Given the description of an element on the screen output the (x, y) to click on. 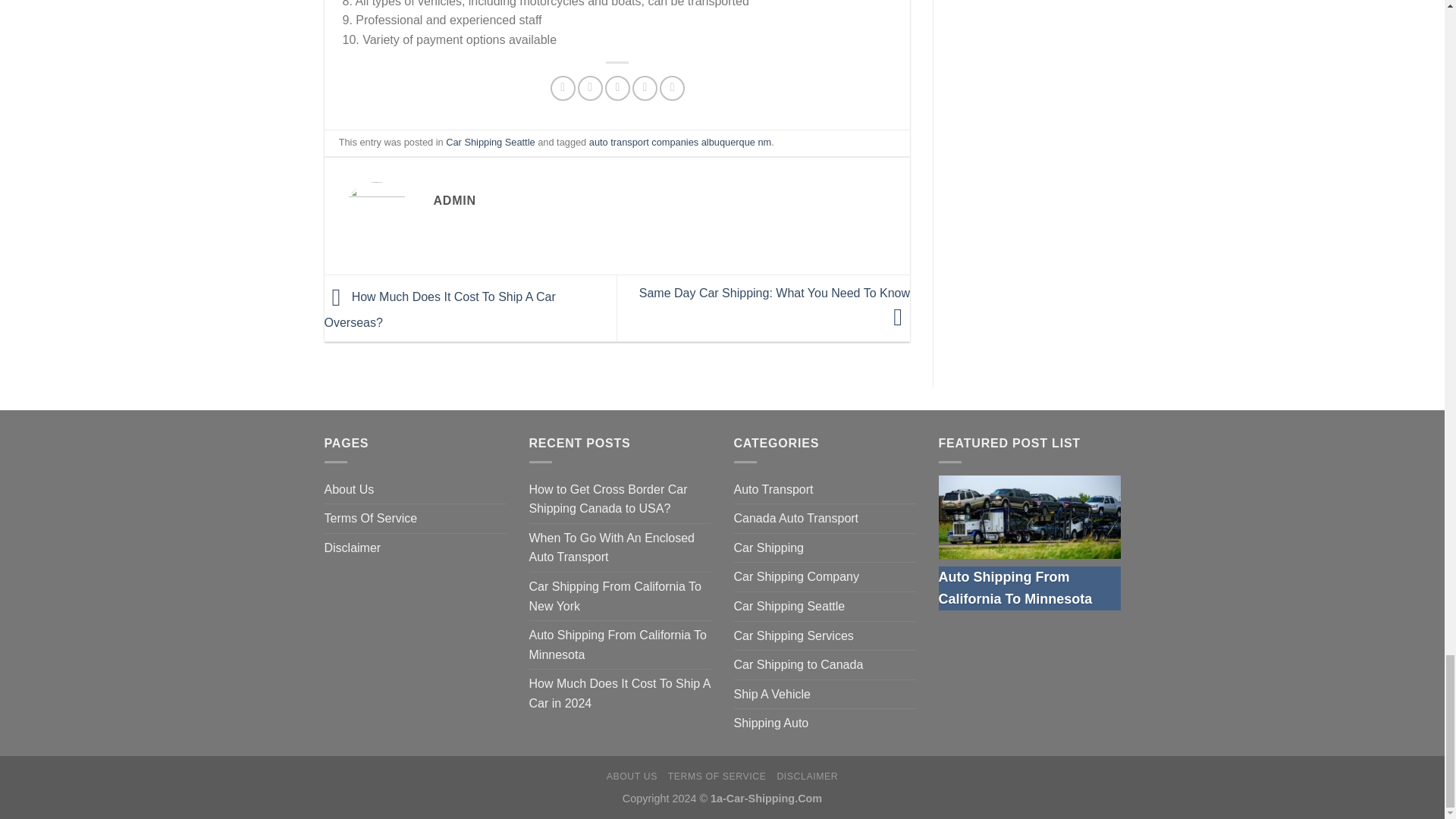
Car Shipping Seattle (489, 142)
Share on Facebook (562, 88)
Same Day Car Shipping: What You Need To Know (774, 304)
auto transport companies albuquerque nm (680, 142)
How Much Does It Cost To Ship A Car Overseas? (440, 310)
Share on Twitter (590, 88)
